Given the description of an element on the screen output the (x, y) to click on. 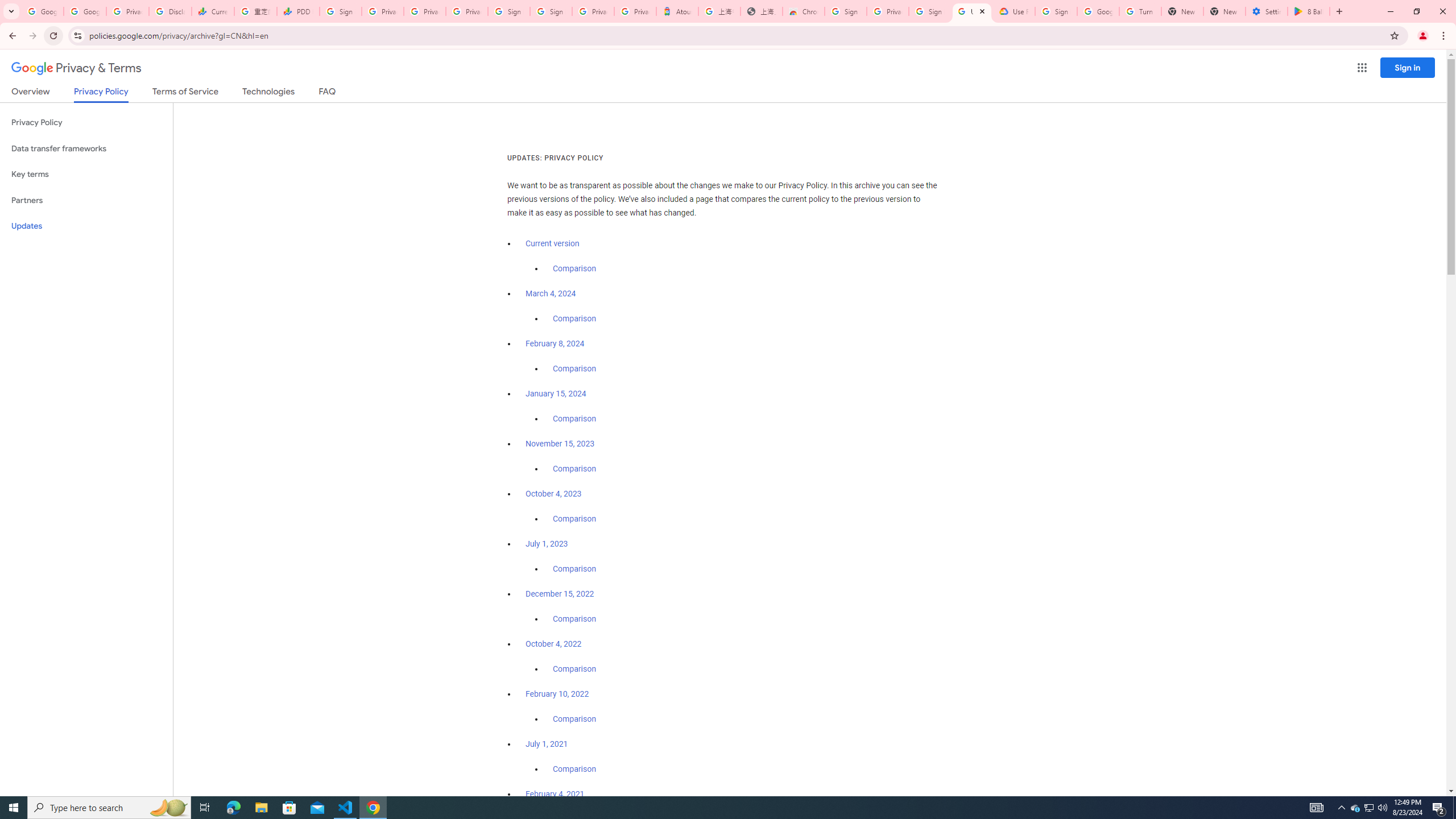
November 15, 2023 (560, 443)
Current version (552, 243)
PDD Holdings Inc - ADR (PDD) Price & News - Google Finance (298, 11)
Google Account Help (1097, 11)
Privacy Checkup (467, 11)
July 1, 2023 (546, 543)
February 8, 2024 (555, 343)
New Tab (1224, 11)
